Given the description of an element on the screen output the (x, y) to click on. 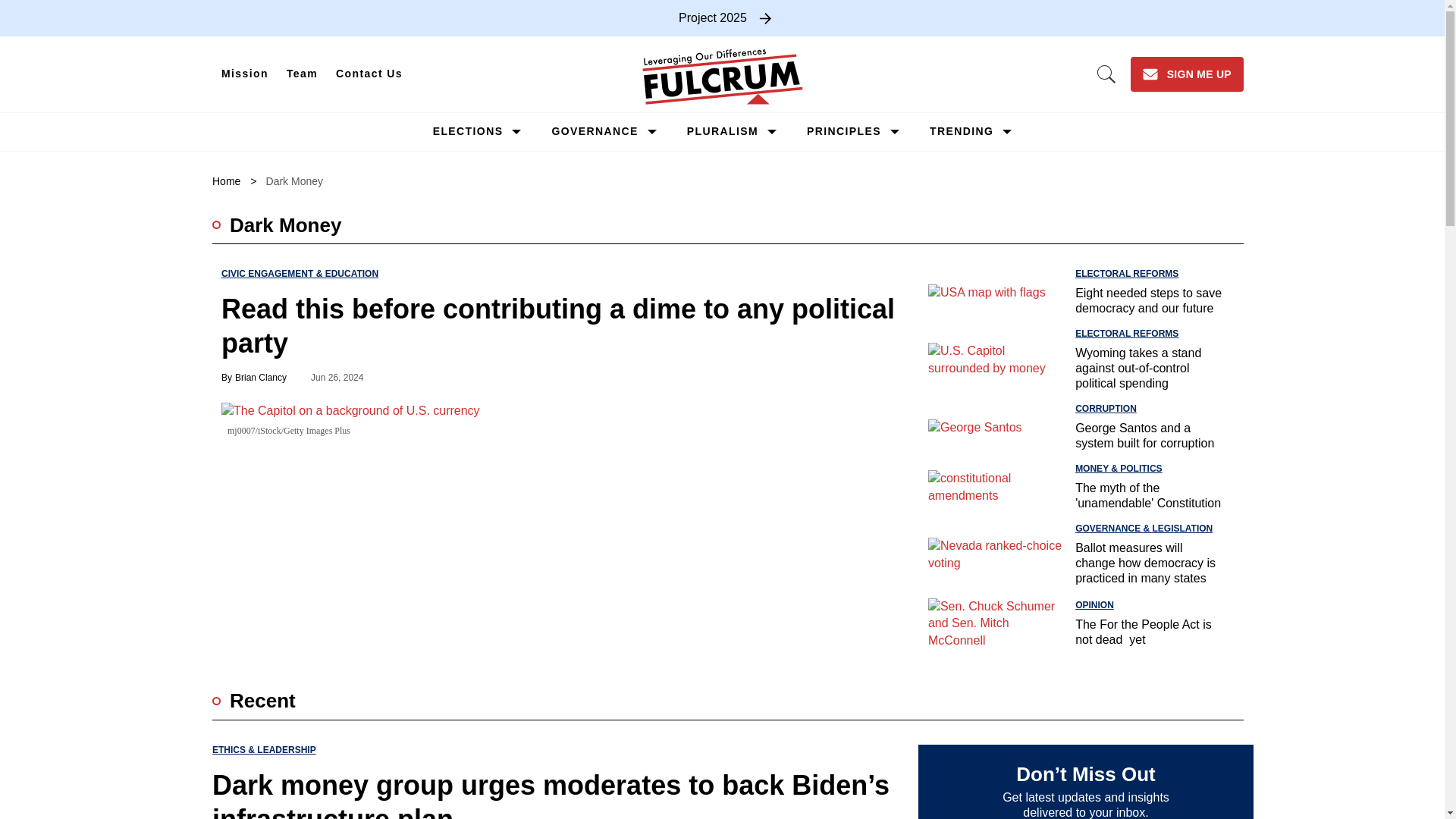
Team (302, 73)
Mission (245, 73)
Open Search (1106, 74)
ELECTIONS (467, 131)
GOVERNANCE (594, 131)
Contact Us (369, 73)
Open Search (1106, 74)
SIGN ME UP (1187, 73)
